Given the description of an element on the screen output the (x, y) to click on. 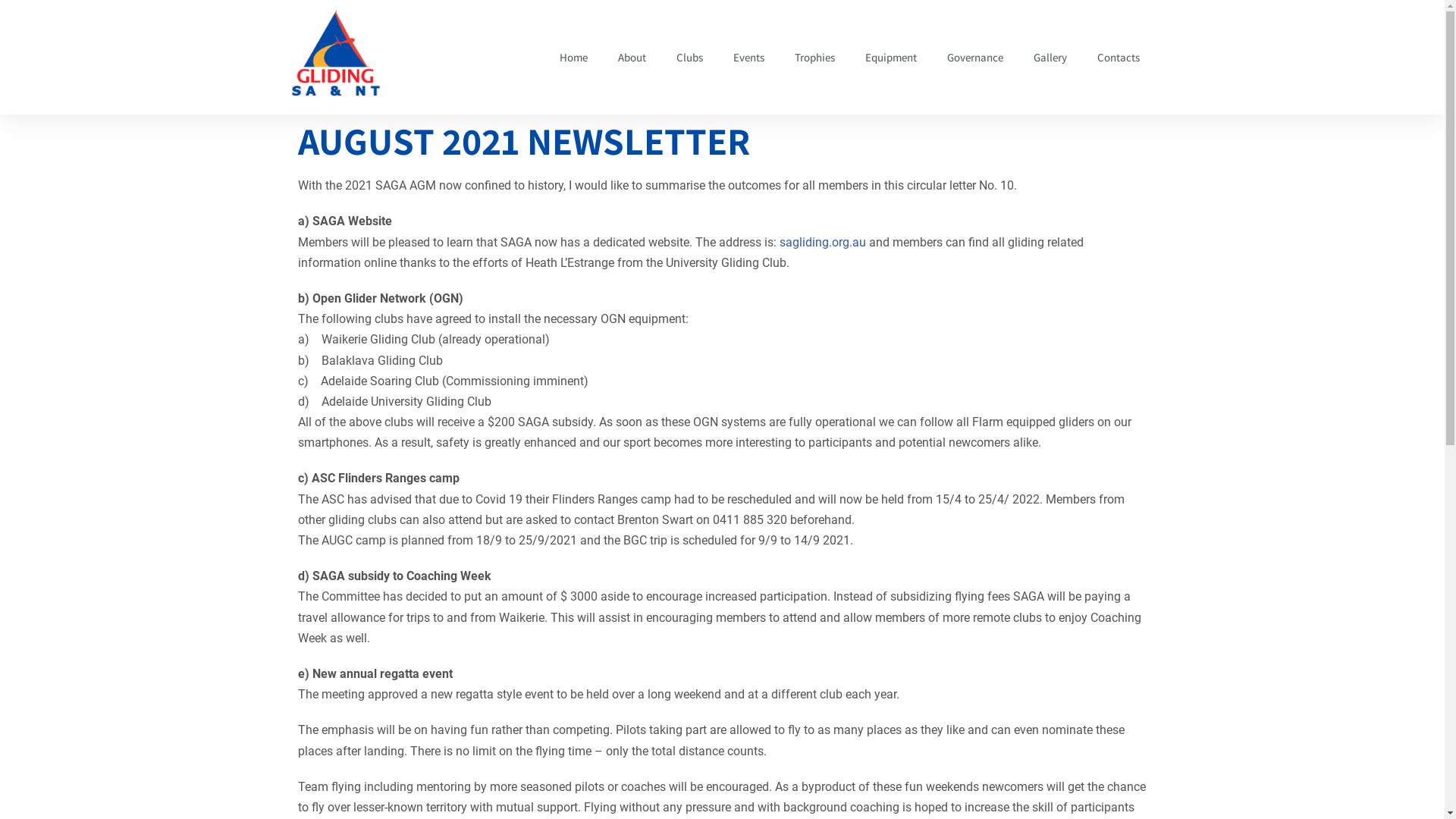
Governance Element type: text (974, 57)
Events Element type: text (747, 57)
Contacts Element type: text (1117, 57)
Skip to content Element type: text (11, 31)
sagliding.org.au Element type: text (822, 242)
Clubs Element type: text (689, 57)
About Element type: text (631, 57)
Trophies Element type: text (814, 57)
Home Element type: text (573, 57)
Gallery Element type: text (1049, 57)
Equipment Element type: text (890, 57)
